Given the description of an element on the screen output the (x, y) to click on. 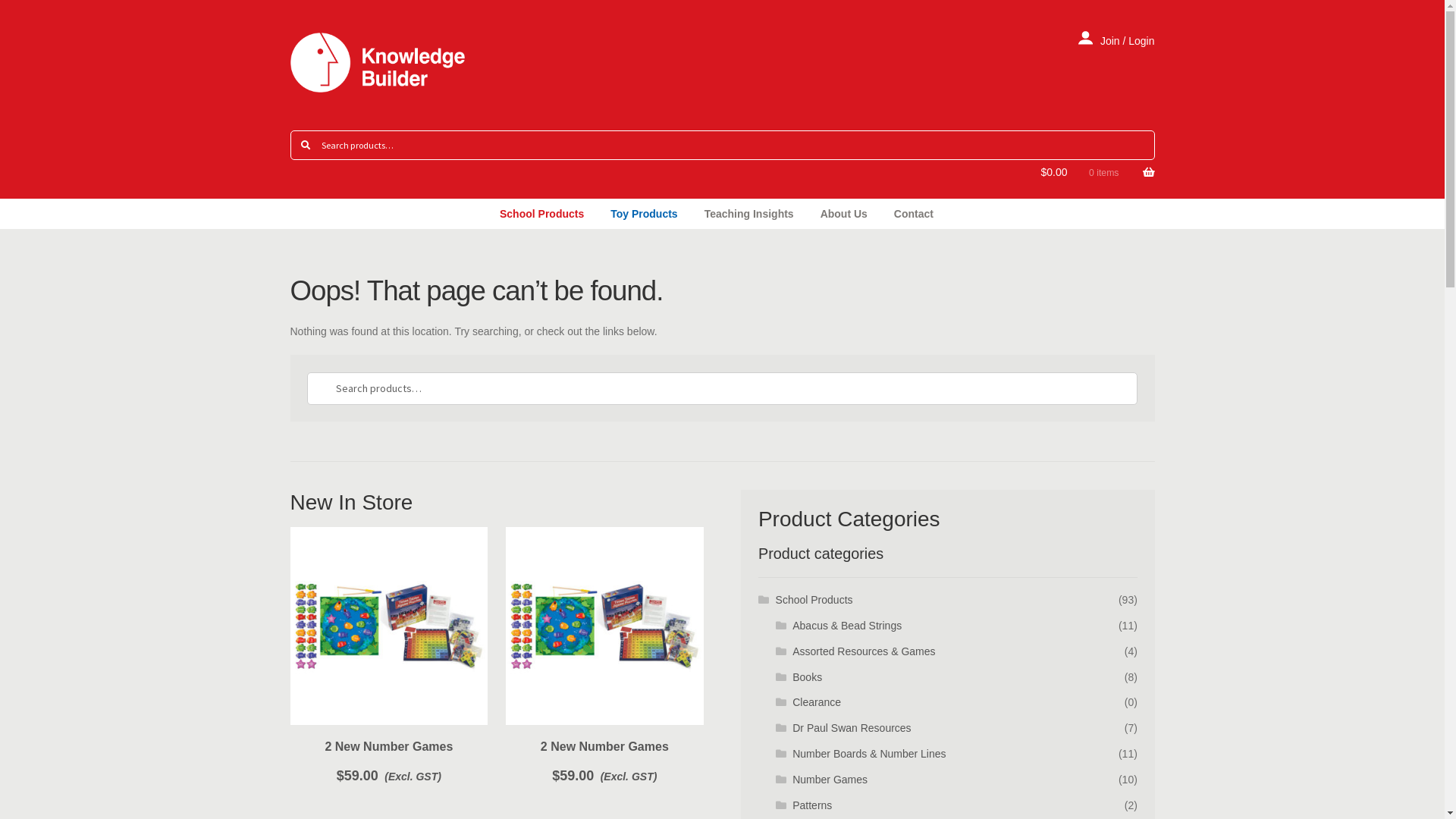
$0.00 0 items Element type: text (1097, 178)
Search Element type: text (306, 371)
Assorted Resources & Games Element type: text (863, 651)
Number Boards & Number Lines Element type: text (868, 753)
Abacus & Bead Strings Element type: text (846, 625)
Search Element type: text (289, 129)
Toy Products Element type: text (643, 213)
2 New Number Games
$59.00 (Excl. GST) Element type: text (604, 657)
School Products Element type: text (541, 213)
Join / Login Element type: text (1115, 40)
2 New Number Games
$59.00 (Excl. GST) Element type: text (388, 657)
School Products Element type: text (814, 599)
Books Element type: text (807, 677)
Contact Element type: text (913, 213)
Patterns Element type: text (811, 805)
Clearance Element type: text (816, 702)
Number Games Element type: text (829, 779)
About Us Element type: text (843, 213)
Teaching Insights Element type: text (748, 213)
Dr Paul Swan Resources Element type: text (851, 727)
